Given the description of an element on the screen output the (x, y) to click on. 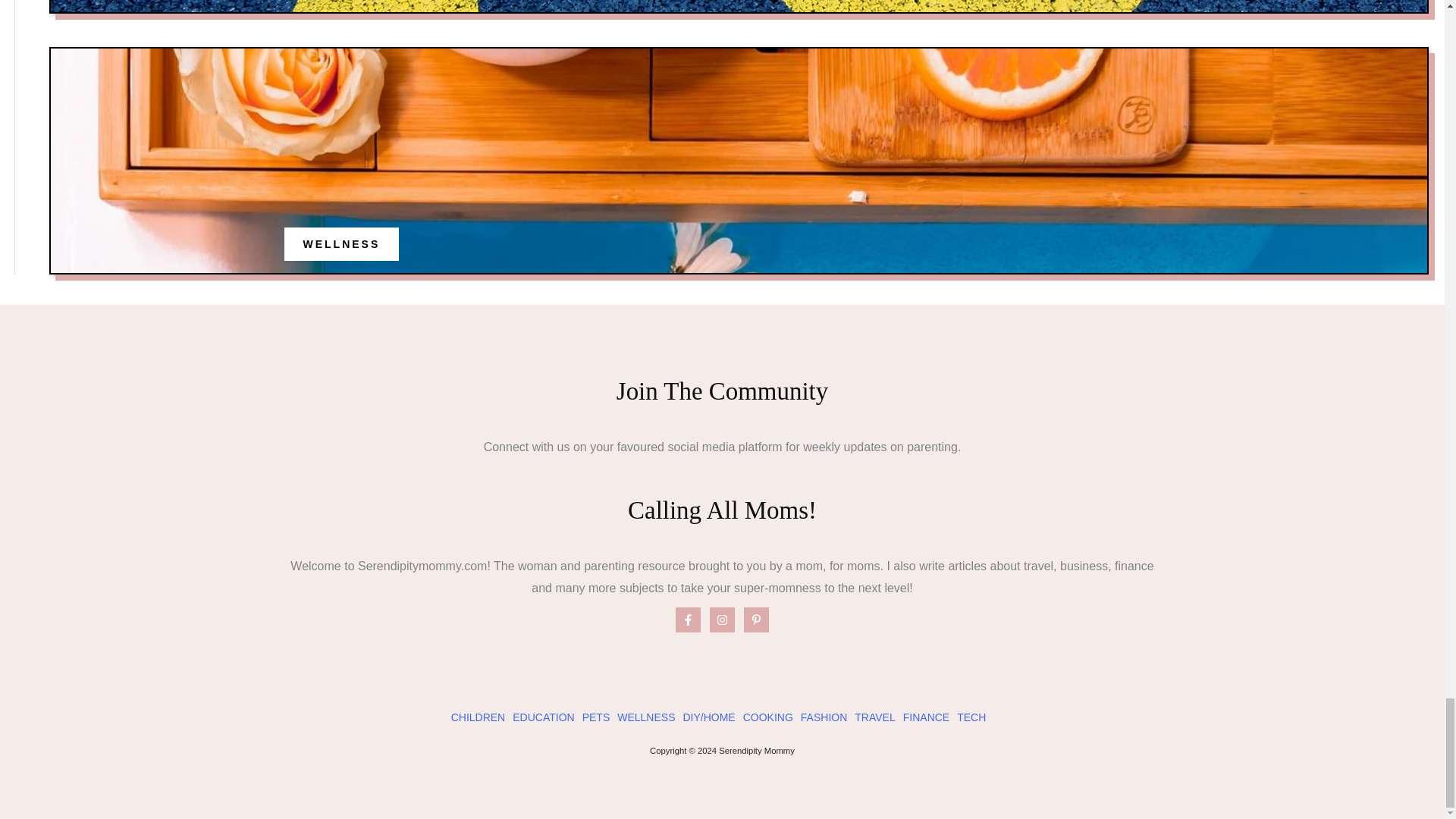
PETS (596, 717)
EDUCATION (542, 717)
CHILDREN (478, 717)
WELLNESS (341, 243)
WELLNESS (646, 717)
